Given the description of an element on the screen output the (x, y) to click on. 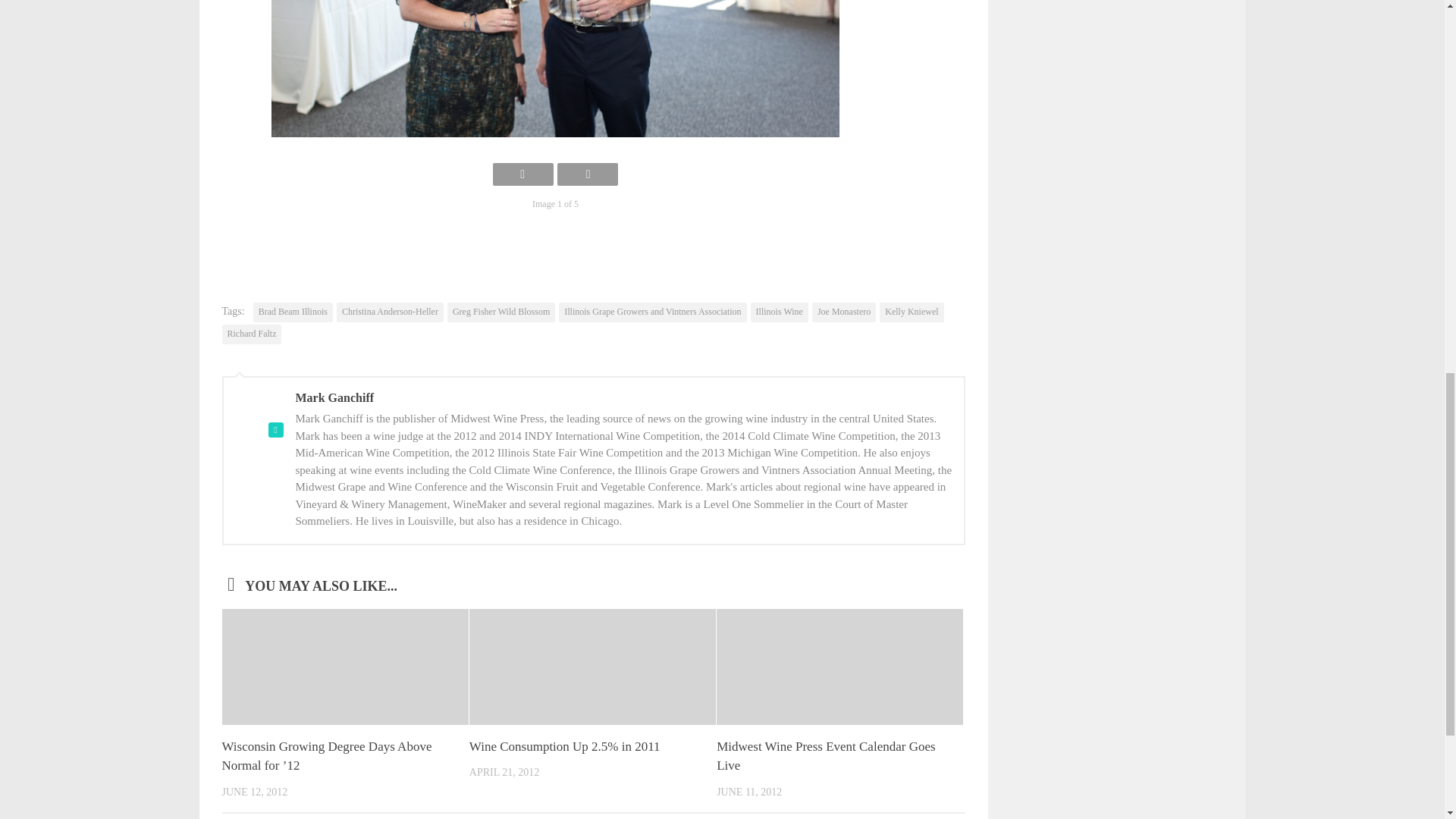
Brad Beam Illinois (293, 312)
Illinois Grape Growers and Vintners Association (652, 312)
Richard Faltz (251, 333)
Kelly Kniewel (911, 312)
Joe Monastero (844, 312)
Christina Anderson-Heller (390, 312)
Greg Fisher Wild Blossom (500, 312)
Illinois Wine (779, 312)
